Given the description of an element on the screen output the (x, y) to click on. 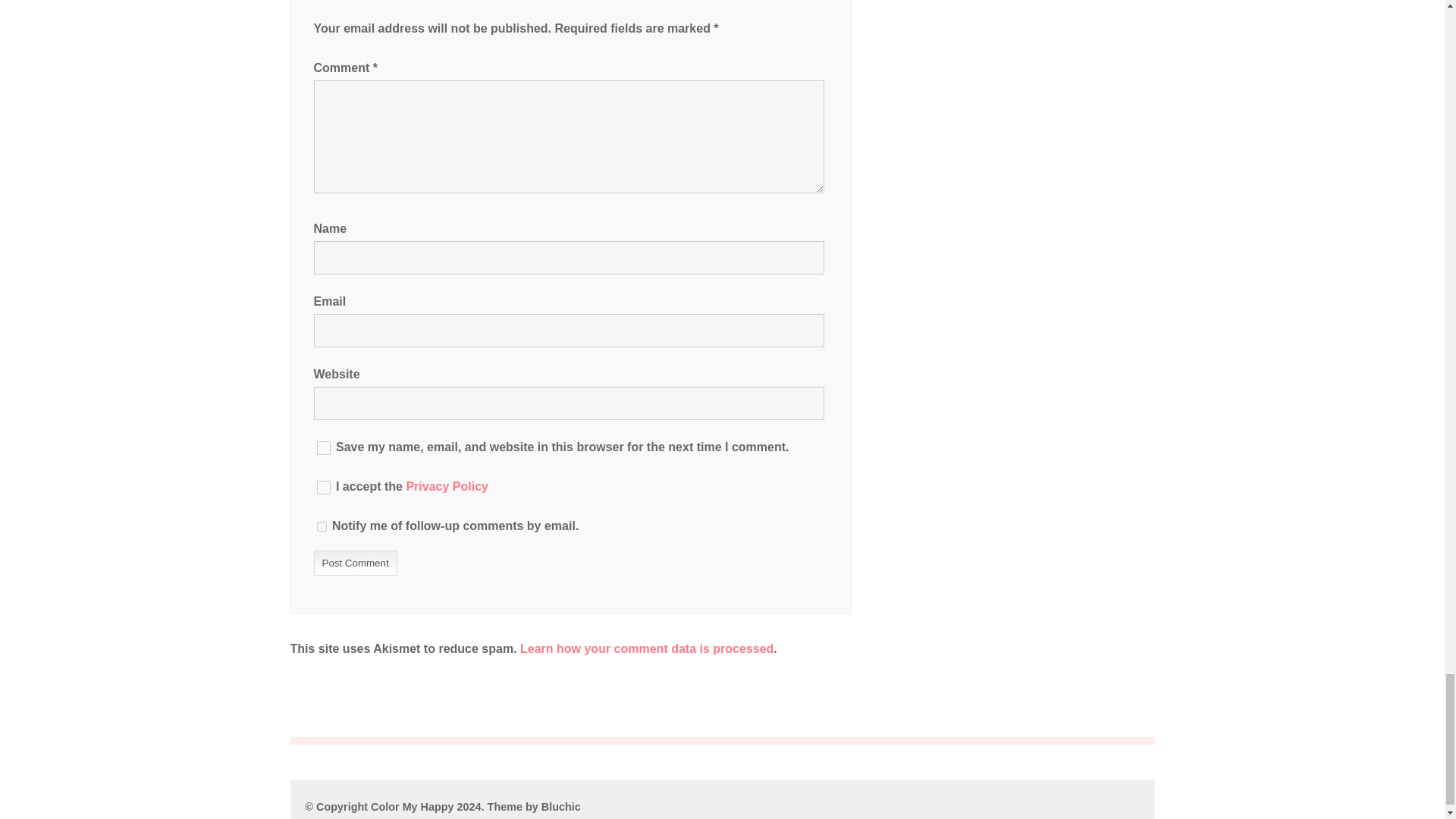
subscribe (321, 526)
yes (323, 448)
1 (323, 487)
Post Comment (355, 562)
